Given the description of an element on the screen output the (x, y) to click on. 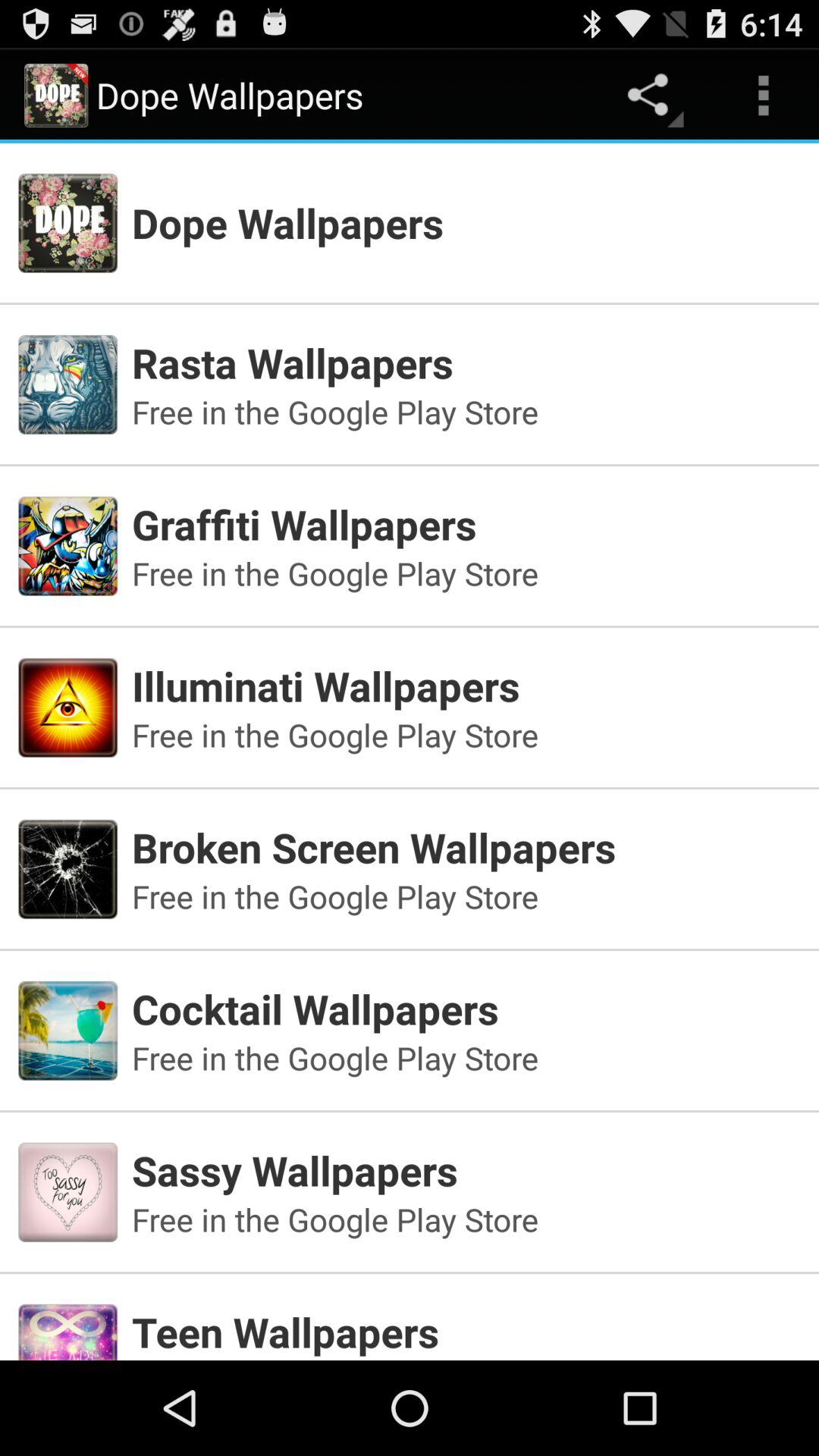
view section (409, 1310)
